Given the description of an element on the screen output the (x, y) to click on. 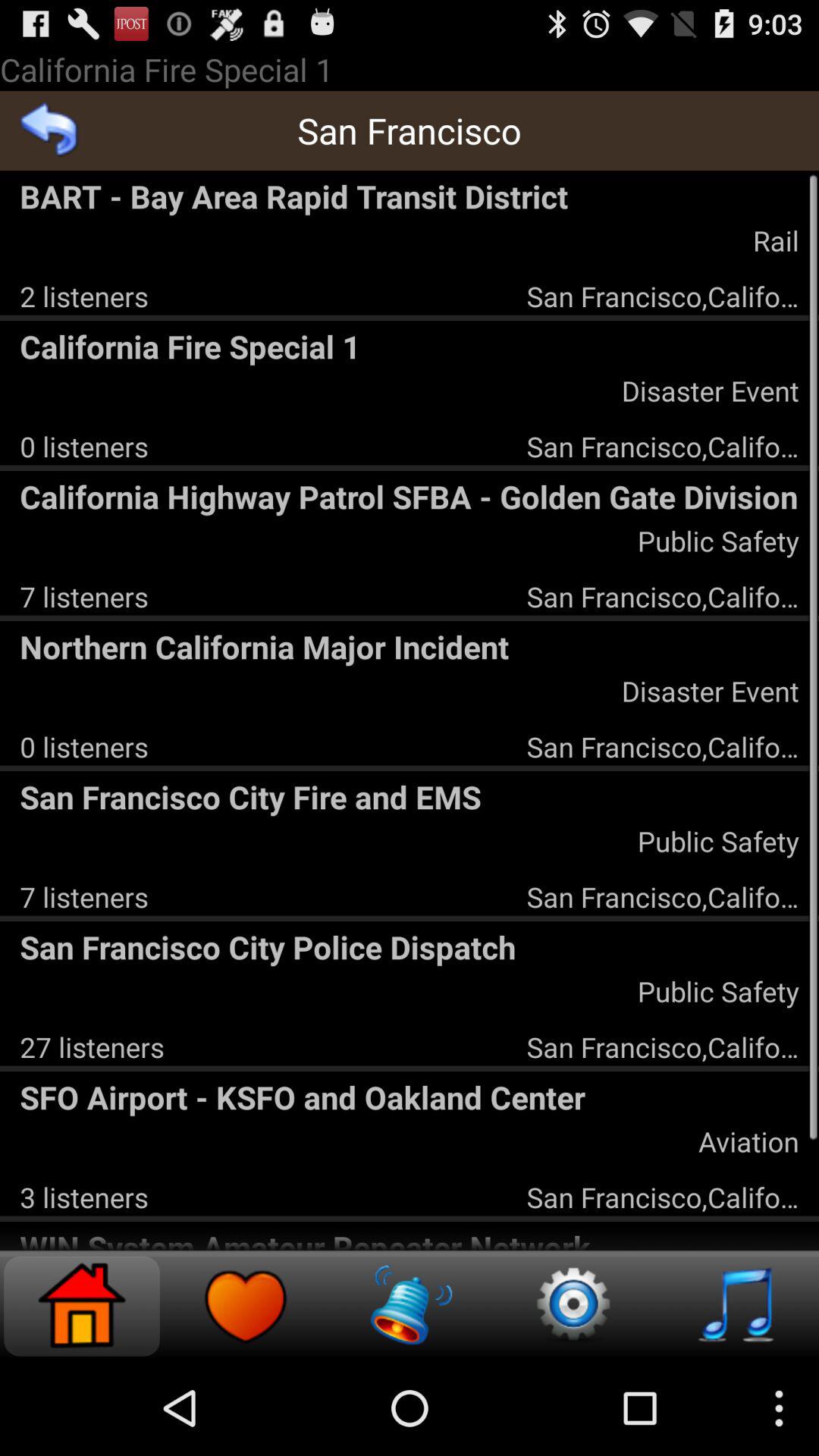
launch the aviation item (748, 1141)
